Given the description of an element on the screen output the (x, y) to click on. 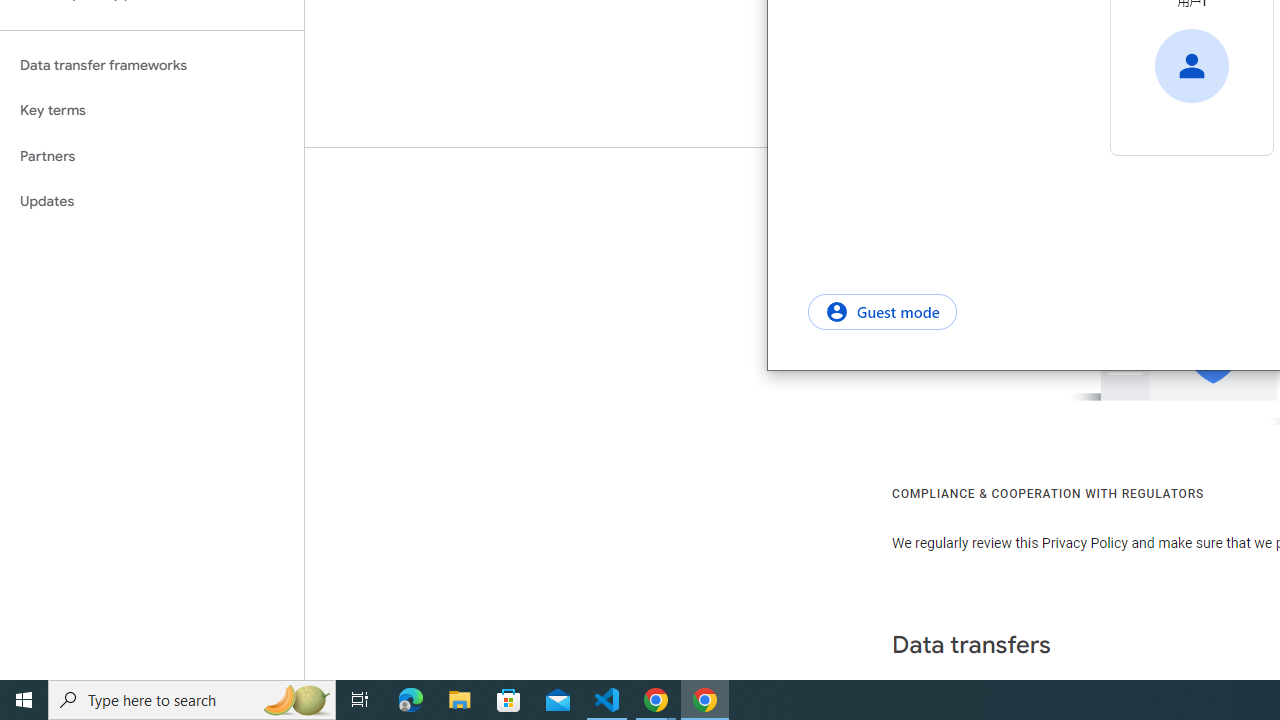
Guest mode (882, 311)
Start (24, 699)
Microsoft Store (509, 699)
Google Chrome - 1 running window (704, 699)
File Explorer (460, 699)
Google Chrome - 2 running windows (656, 699)
Type here to search (191, 699)
Task View (359, 699)
Microsoft Edge (411, 699)
